Given the description of an element on the screen output the (x, y) to click on. 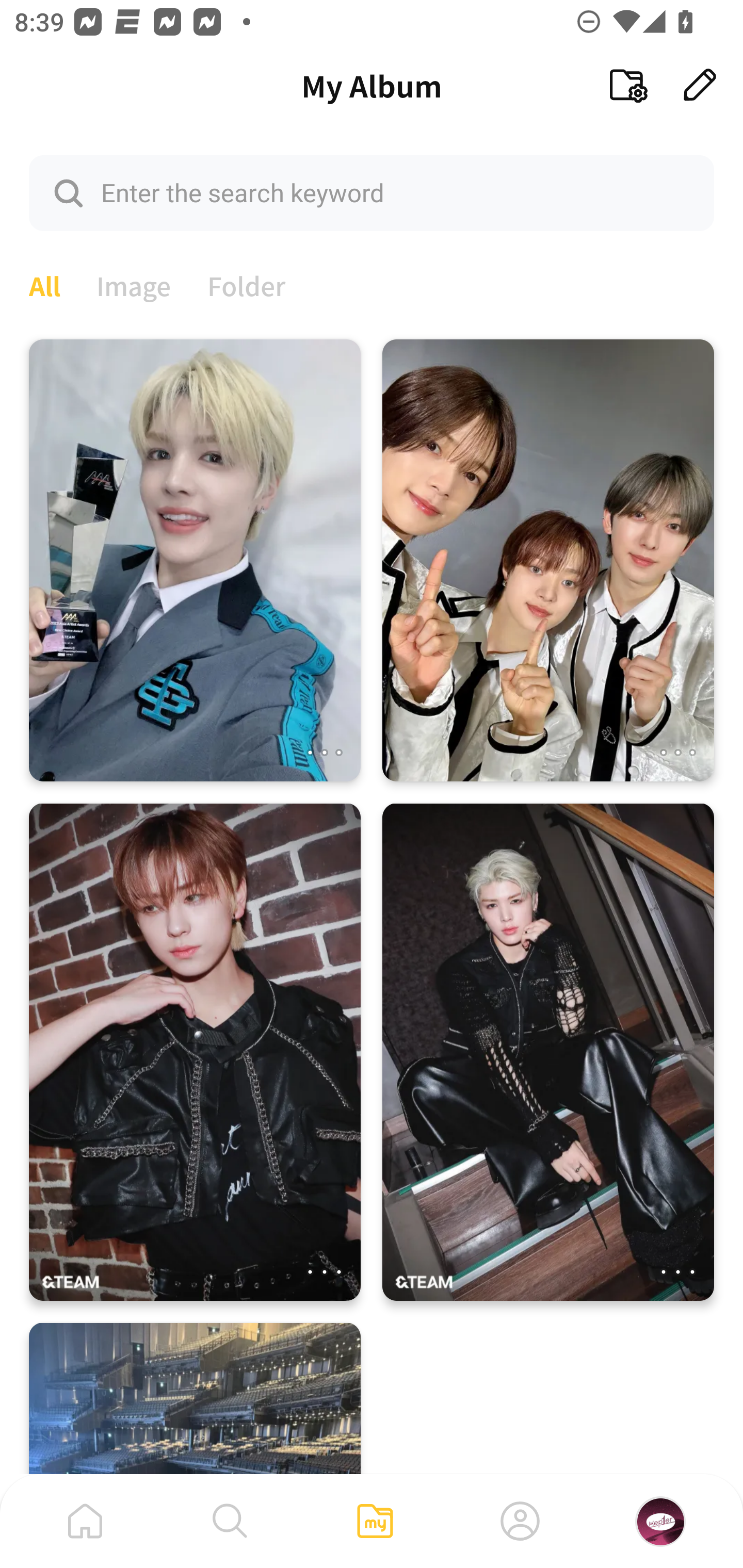
Enter the search keyword (371, 192)
All (44, 284)
Image (133, 284)
Folder (246, 284)
